Given the description of an element on the screen output the (x, y) to click on. 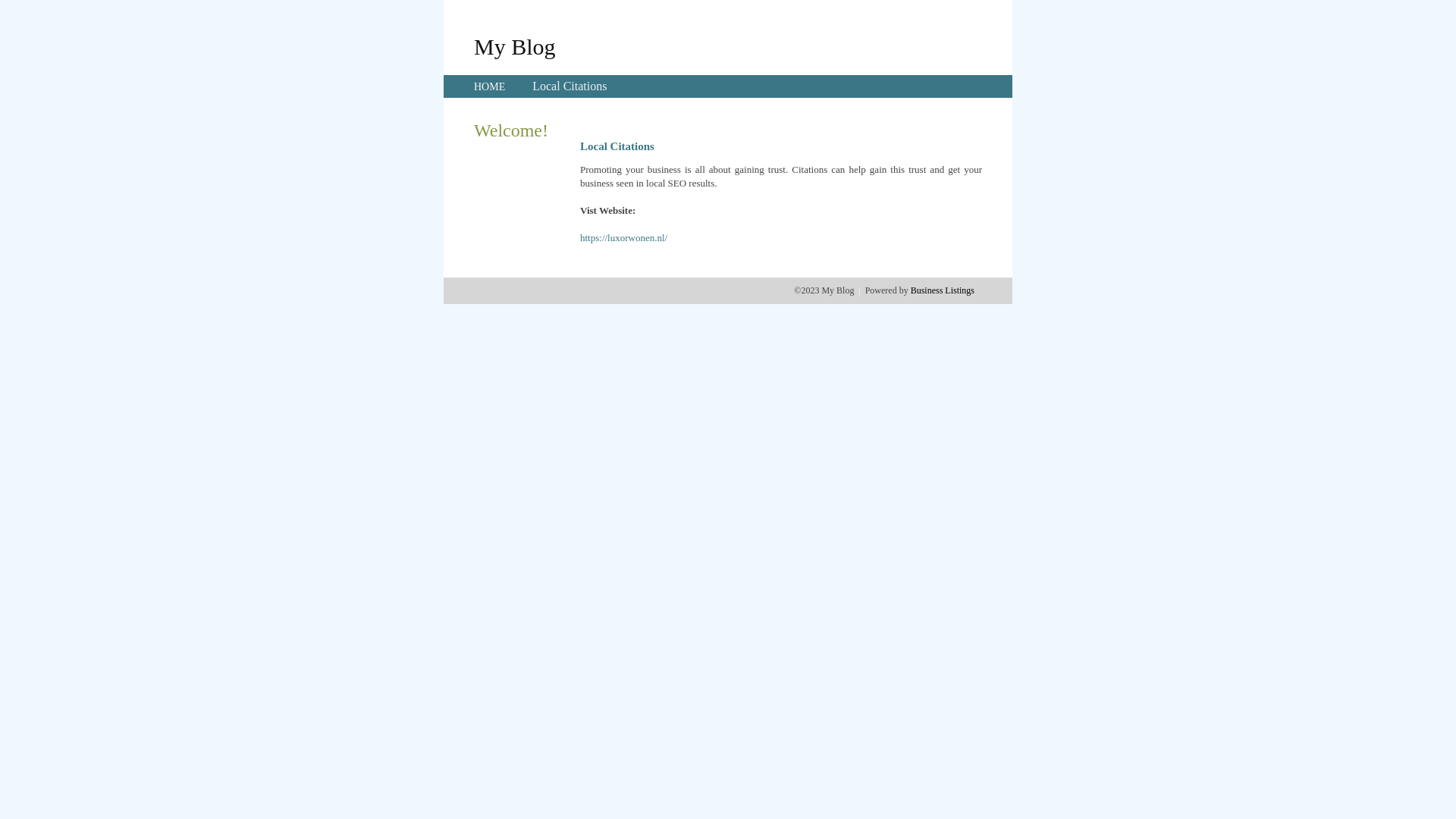
Business Listings Element type: text (942, 290)
My Blog Element type: text (514, 46)
https://luxorwonen.nl/ Element type: text (623, 237)
HOME Element type: text (489, 86)
Local Citations Element type: text (569, 85)
